Given the description of an element on the screen output the (x, y) to click on. 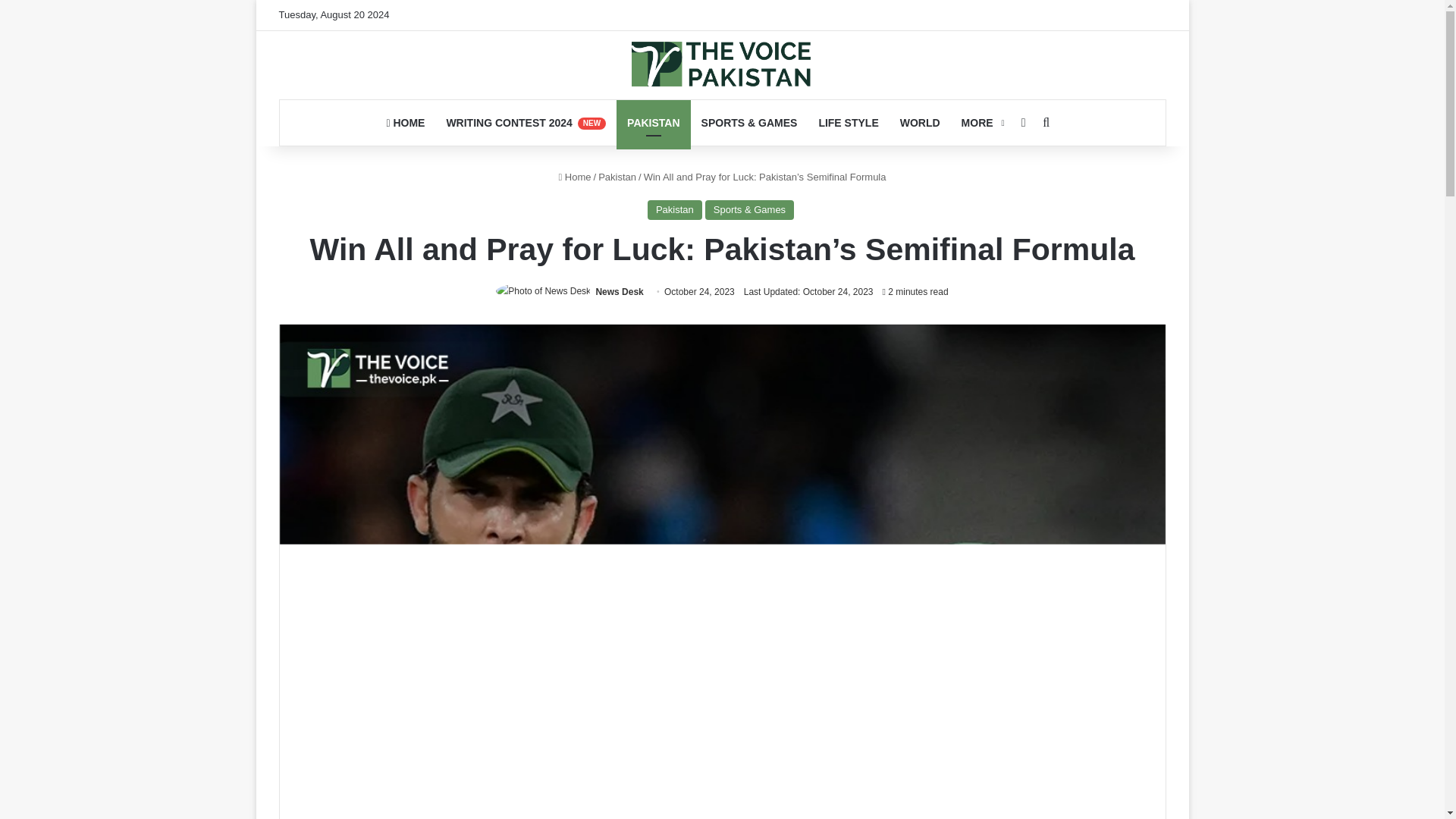
HOME (405, 122)
Pakistan (674, 209)
PAKISTAN (652, 122)
News Desk (619, 291)
LIFE STYLE (848, 122)
News Desk (619, 291)
Pakistan (617, 176)
Home (574, 176)
WRITING CONTEST 2024 NEW (525, 122)
The Voice Pakistan (721, 64)
